Given the description of an element on the screen output the (x, y) to click on. 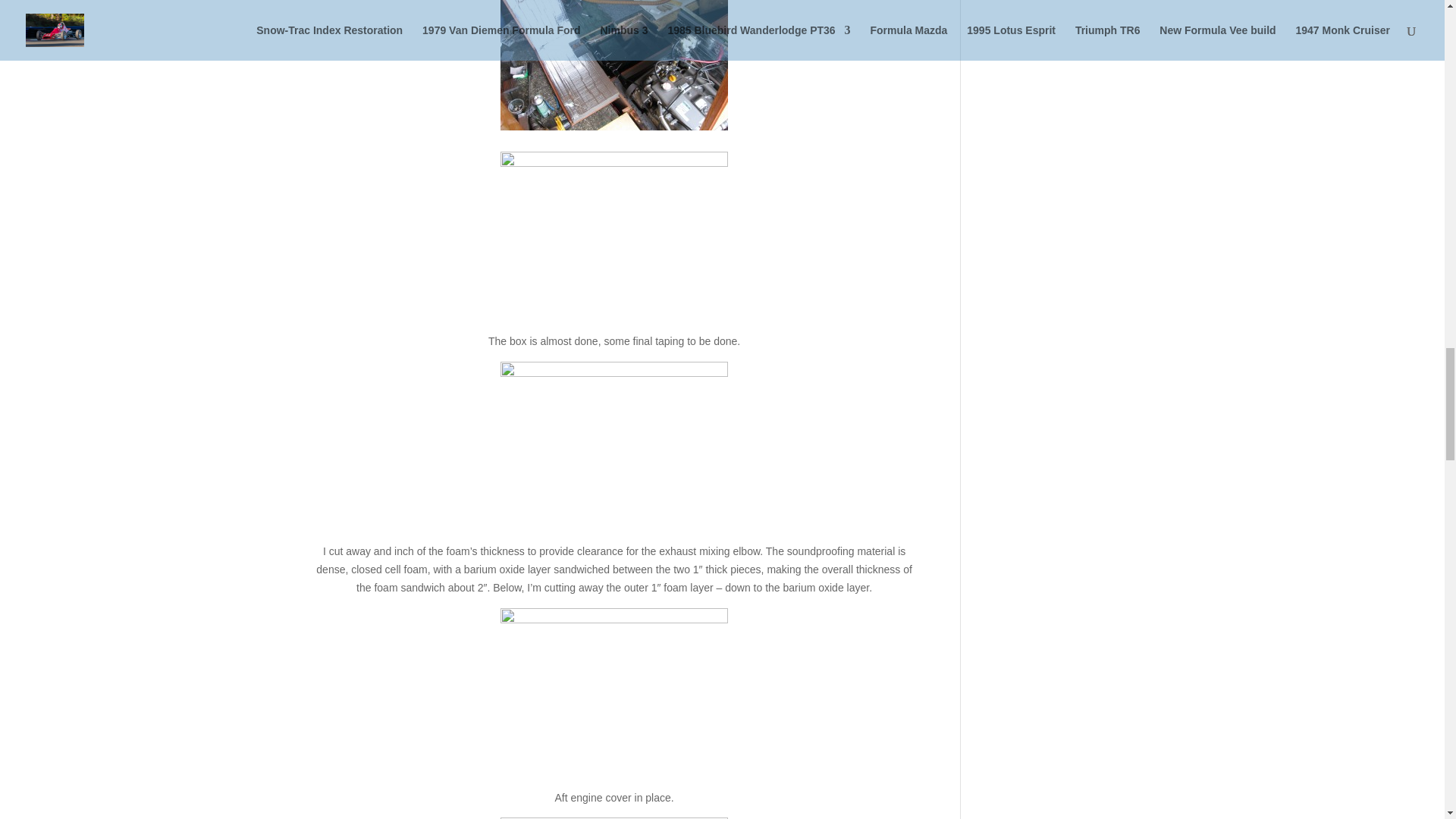
insul93 (614, 65)
